Given the description of an element on the screen output the (x, y) to click on. 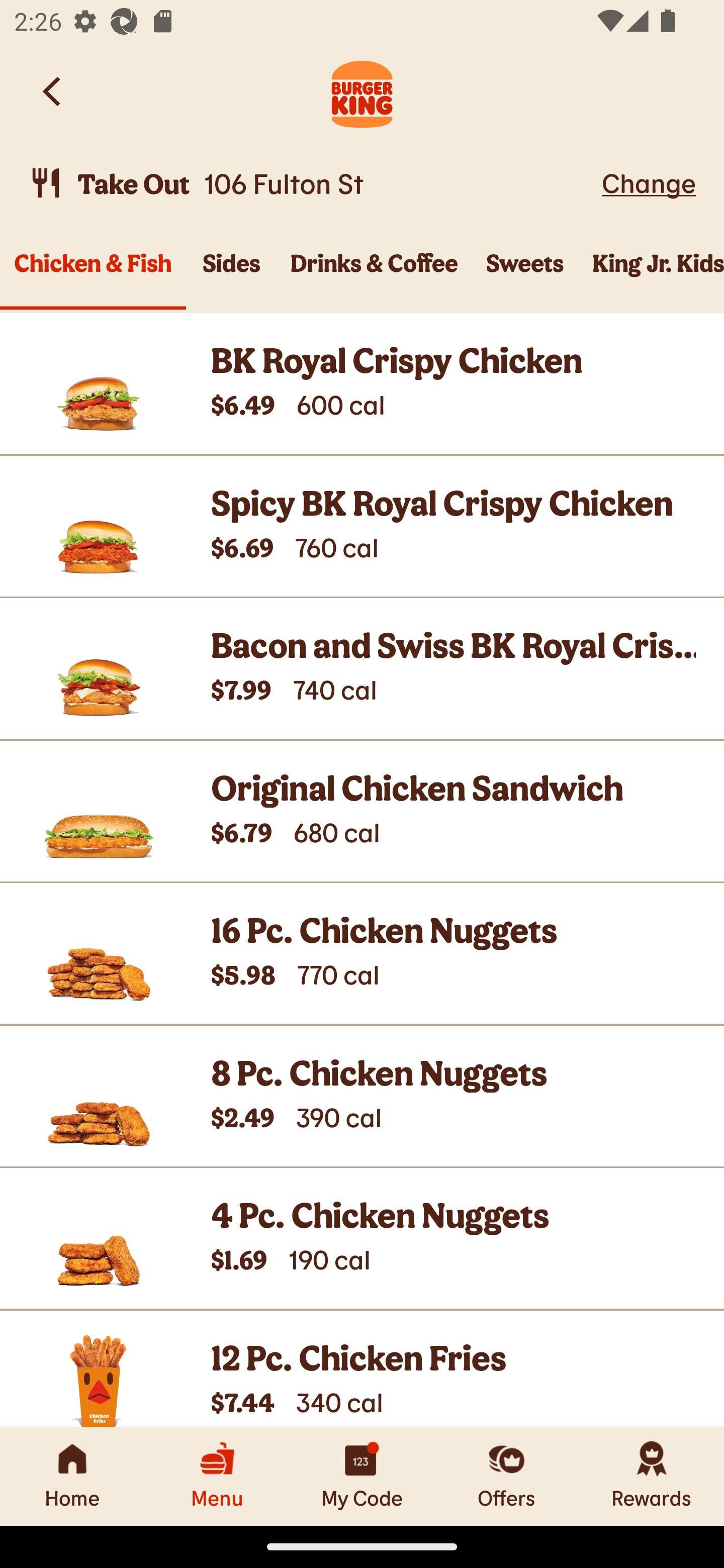
Burger King Logo. Navigate to Home (362, 91)
Back (52, 91)
Take Out, 106 Fulton St  Take Out 106 Fulton St (311, 183)
Change (648, 182)
Chicken & Fish (93, 273)
Sides (231, 273)
Drinks & Coffee (374, 273)
Sweets (525, 273)
King Jr. Kids Meals (651, 273)
Home (72, 1475)
Menu (216, 1475)
My Code (361, 1475)
Offers (506, 1475)
Rewards (651, 1475)
